Given the description of an element on the screen output the (x, y) to click on. 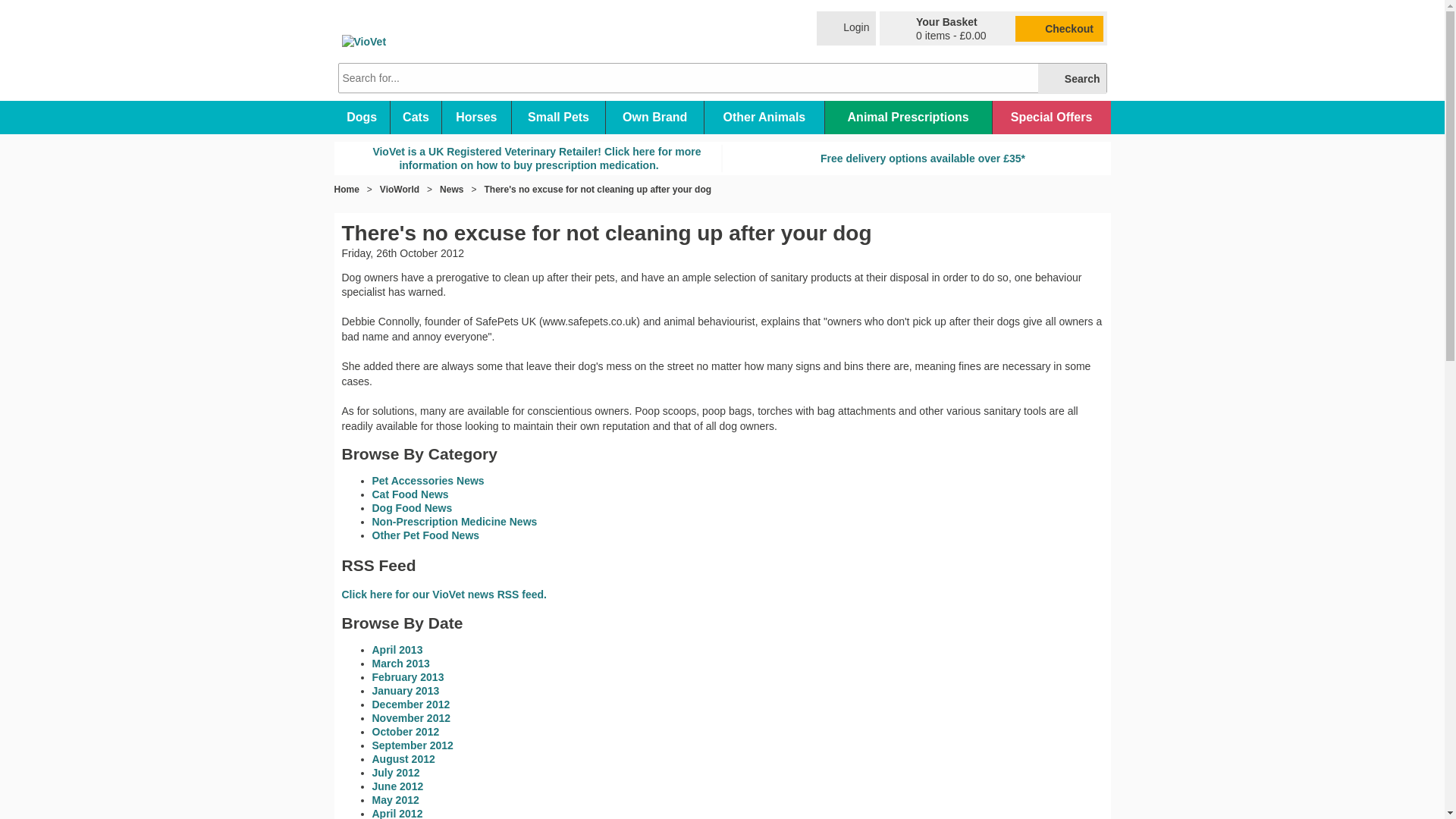
Dogs (360, 117)
Login (845, 28)
Checkout (1058, 27)
Search (1072, 78)
